Given the description of an element on the screen output the (x, y) to click on. 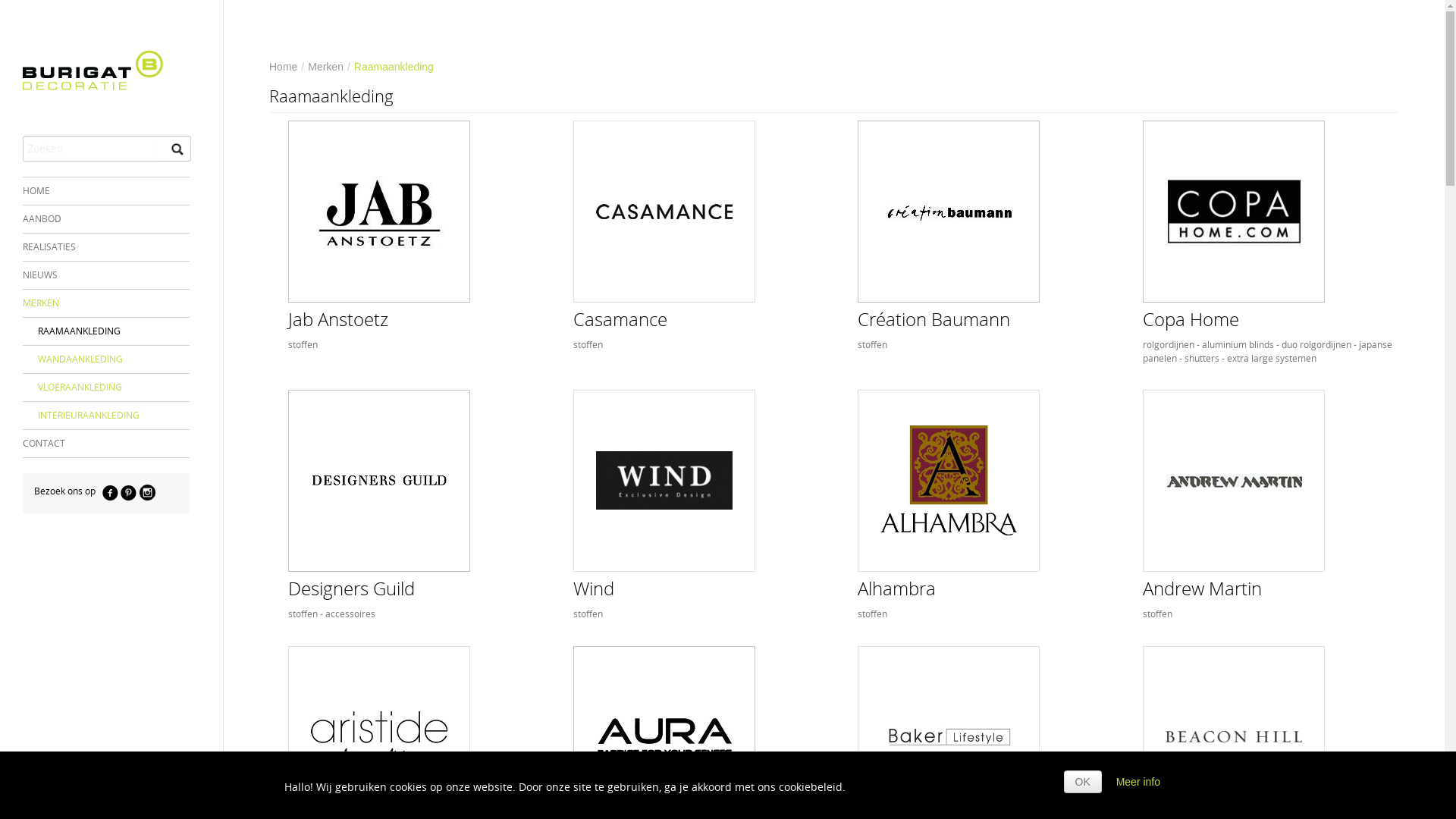
jabxxx.png Element type: hover (379, 211)
VLOERAANKLEDING Element type: text (105, 387)
OK Element type: text (1082, 781)
HOME Element type: text (105, 190)
MERKEN Element type: text (113, 302)
windxxxx.png Element type: hover (664, 480)
alhambraxxxx.png Element type: hover (948, 480)
COOKIE POLICY Element type: text (170, 808)
Zoek Element type: text (172, 149)
NIEUWS Element type: text (105, 274)
WANDAANKLEDING Element type: text (105, 359)
creation baumannxxx.png Element type: hover (948, 211)
Merken Element type: text (325, 66)
RAAMAANKLEDING Element type: text (105, 331)
CODE D 'OR Element type: text (93, 808)
Home Element type: text (283, 66)
designersguildxxx.png Element type: hover (379, 480)
casamancexxx.png Element type: hover (664, 211)
REALISATIES Element type: text (105, 246)
copaxx.png Element type: hover (1233, 211)
Meer info Element type: text (1137, 781)
INTERIEURAANKLEDING Element type: text (105, 415)
instagram Element type: text (147, 492)
CONTACT Element type: text (105, 443)
AANBOD Element type: text (105, 218)
anrdewmartinxxx.png Element type: hover (1233, 480)
